Given the description of an element on the screen output the (x, y) to click on. 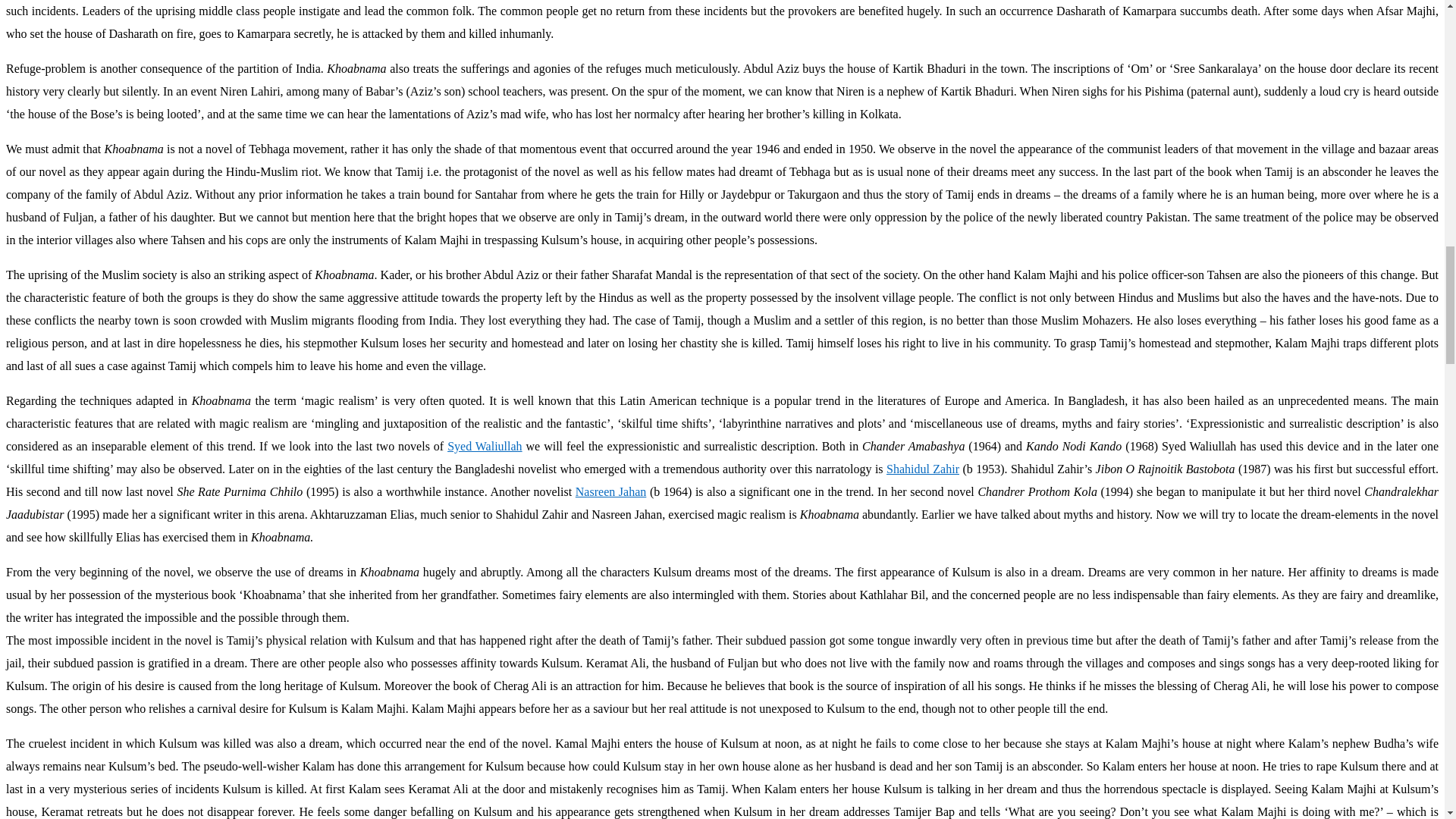
Syed Waliullah (483, 445)
Nasreen Jahan (610, 491)
Shahidul Zahir (922, 468)
